Given the description of an element on the screen output the (x, y) to click on. 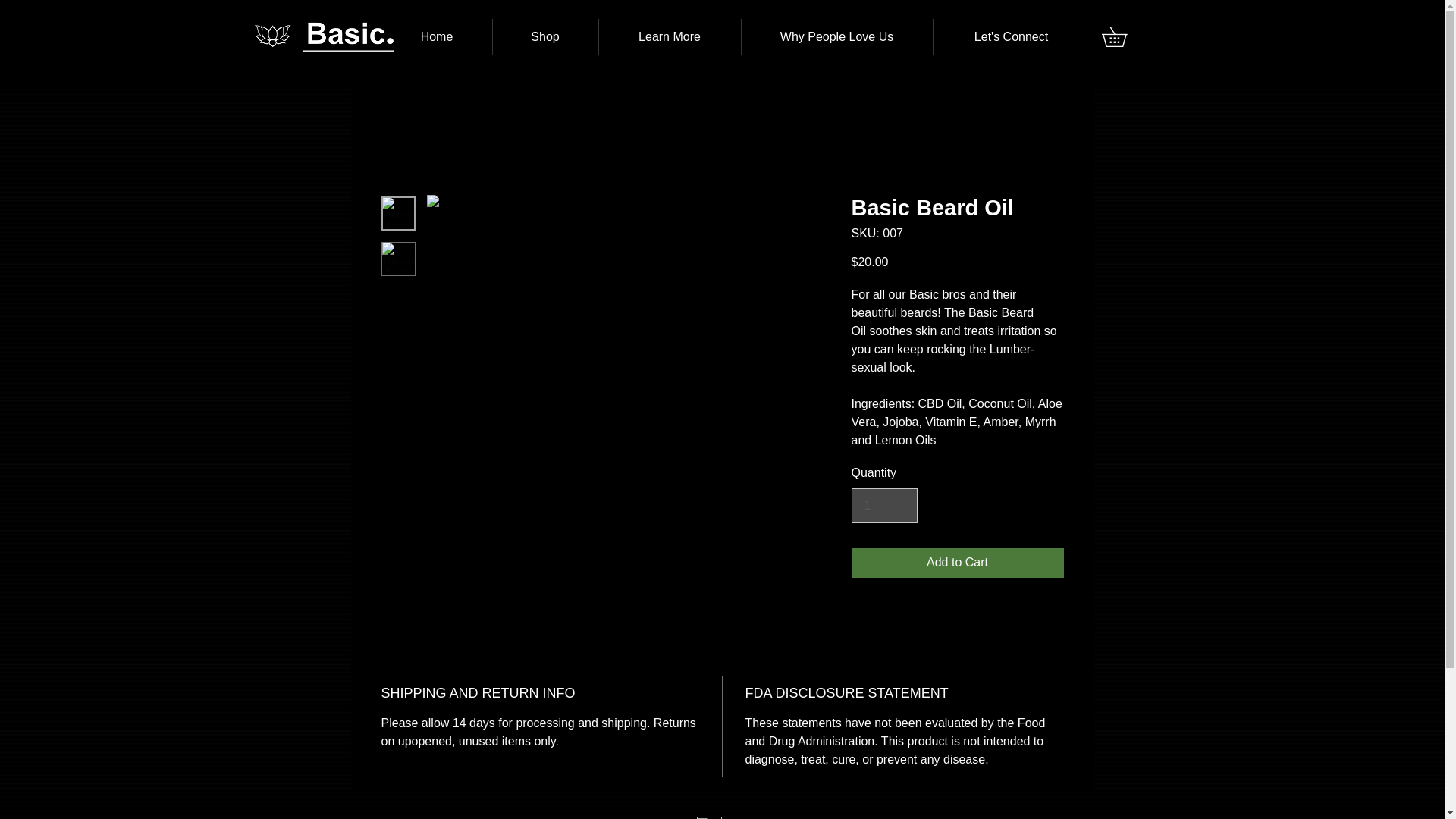
1 (883, 505)
Why People Love Us (837, 36)
Let's Connect (1011, 36)
Add to Cart (956, 562)
Home (436, 36)
